Given the description of an element on the screen output the (x, y) to click on. 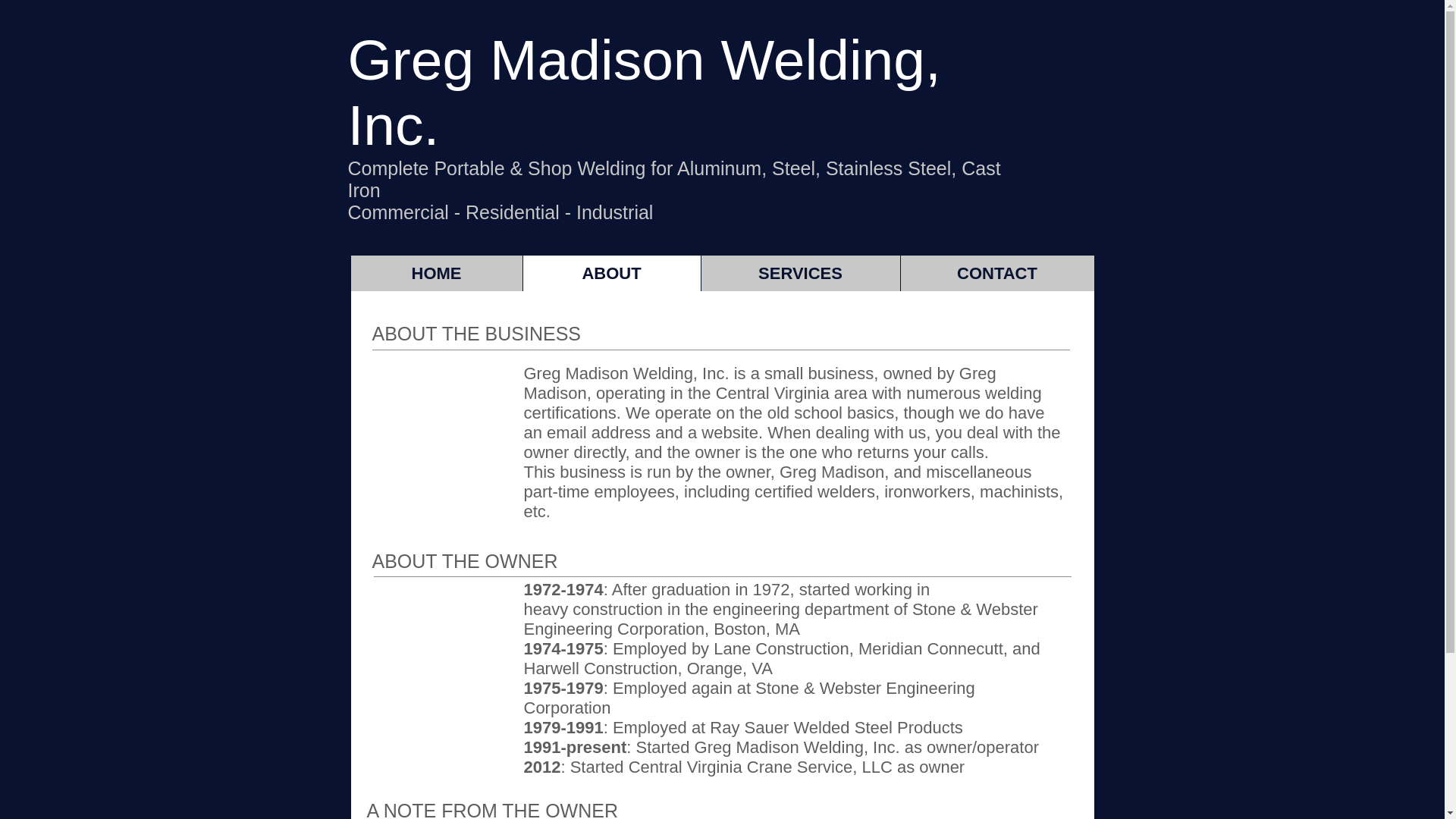
Greg Madison Welding, Inc. (643, 92)
SERVICES (799, 273)
CONTACT (996, 273)
HOME (435, 273)
ABOUT (610, 273)
